Given the description of an element on the screen output the (x, y) to click on. 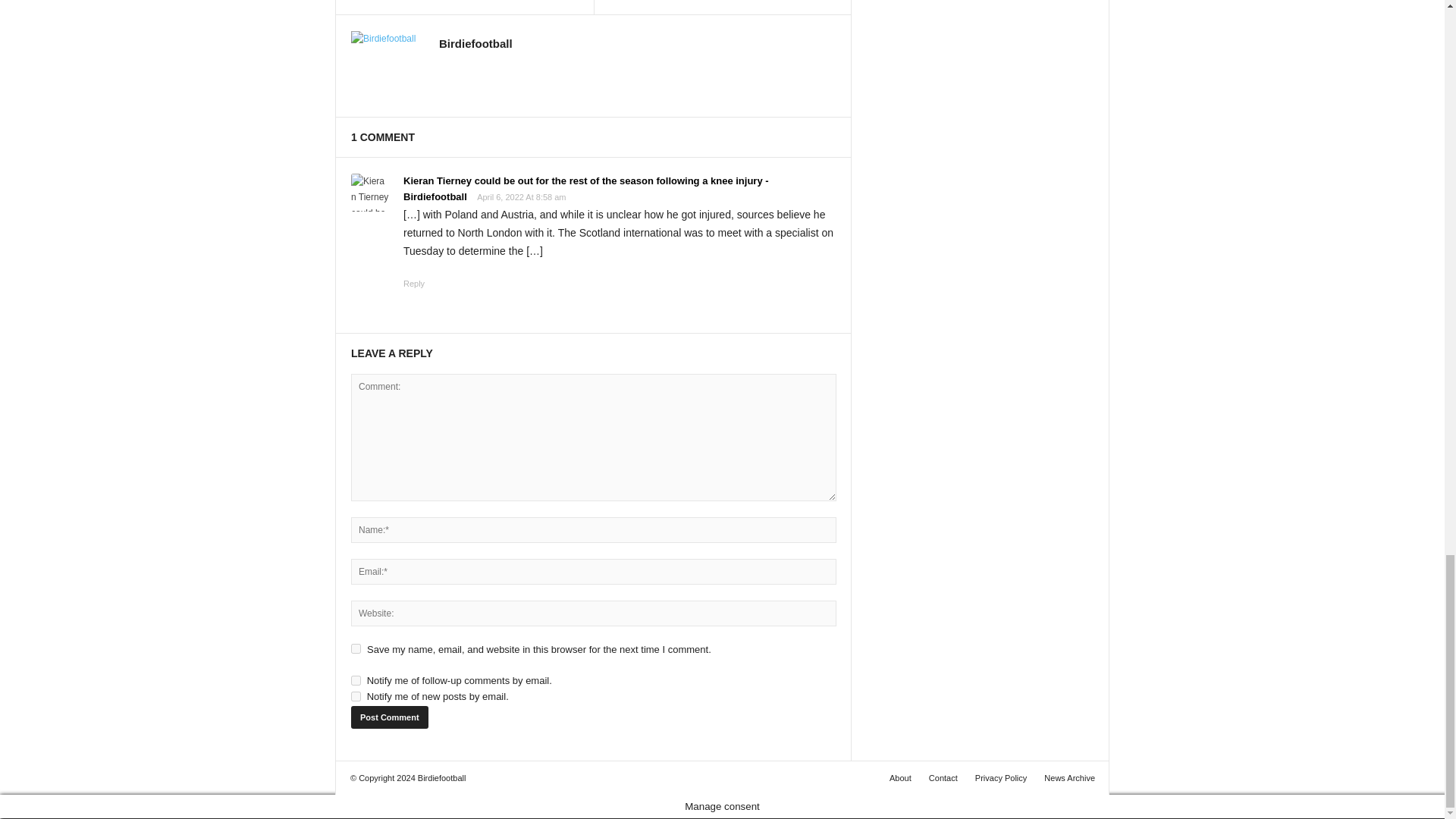
yes (355, 648)
subscribe (355, 696)
subscribe (355, 680)
Post Comment (389, 716)
